Given the description of an element on the screen output the (x, y) to click on. 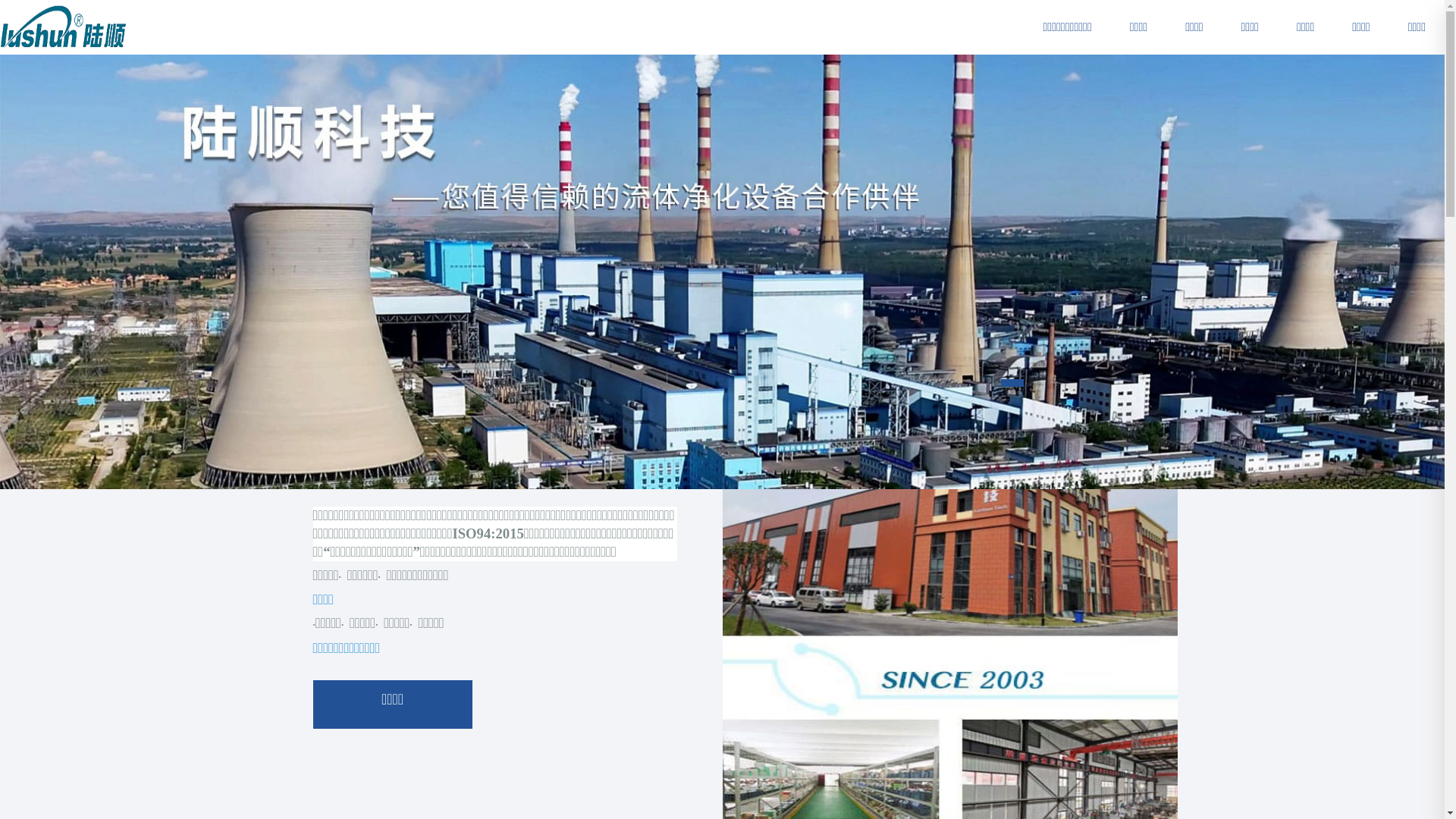
1 Element type: text (1012, 382)
